Given the description of an element on the screen output the (x, y) to click on. 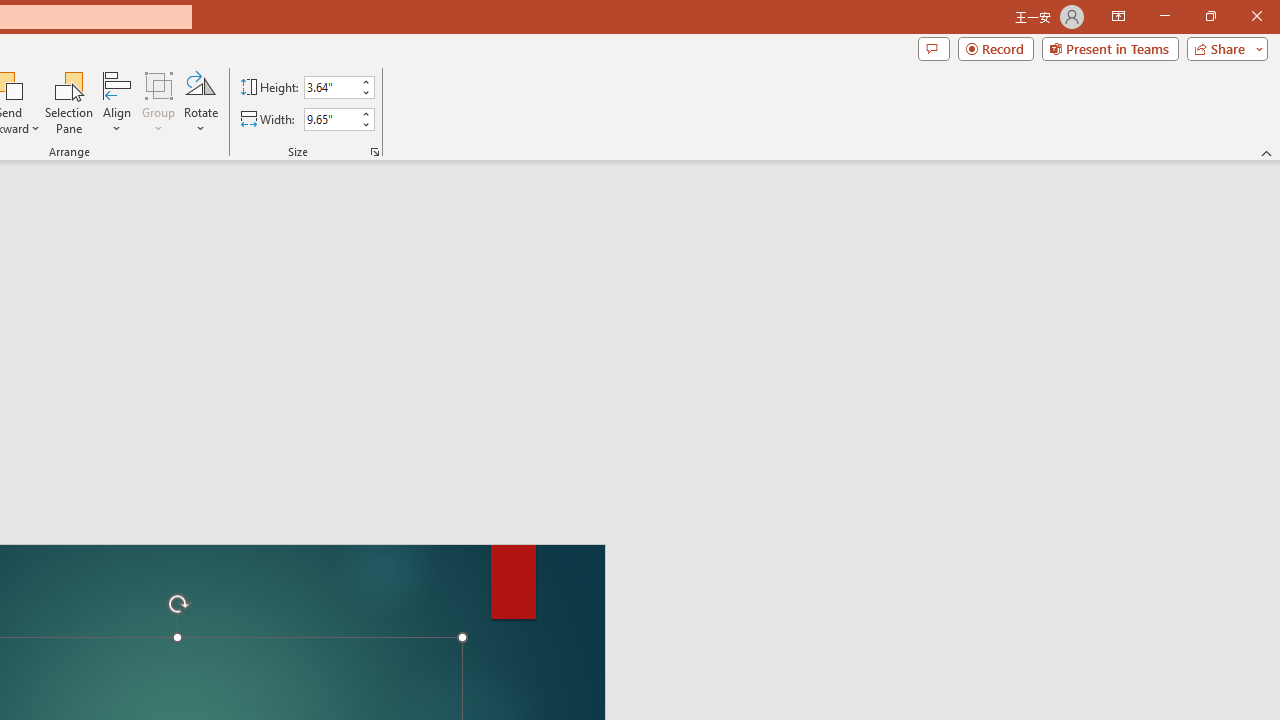
Selection Pane... (69, 102)
Group (159, 102)
Shape Width (330, 119)
Shape Height (330, 87)
Less (365, 124)
Align (117, 102)
